Given the description of an element on the screen output the (x, y) to click on. 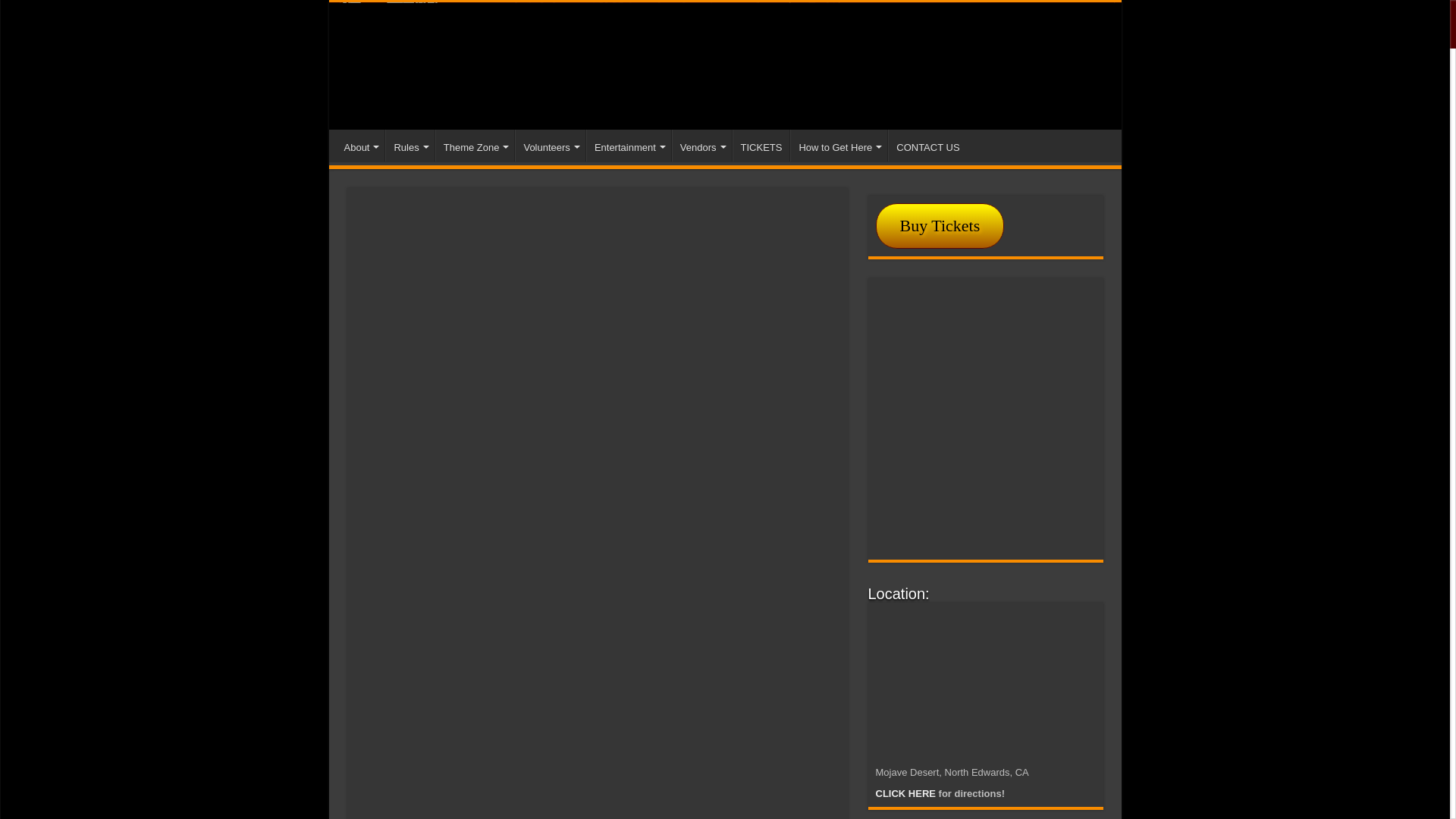
About (360, 145)
Entertainment (628, 145)
Rules (409, 145)
TICKETS (761, 145)
Vendors (701, 145)
How to Get Here (838, 145)
Theme Zone (475, 145)
Volunteers (550, 145)
Wasteland Weekend (725, 65)
